Given the description of an element on the screen output the (x, y) to click on. 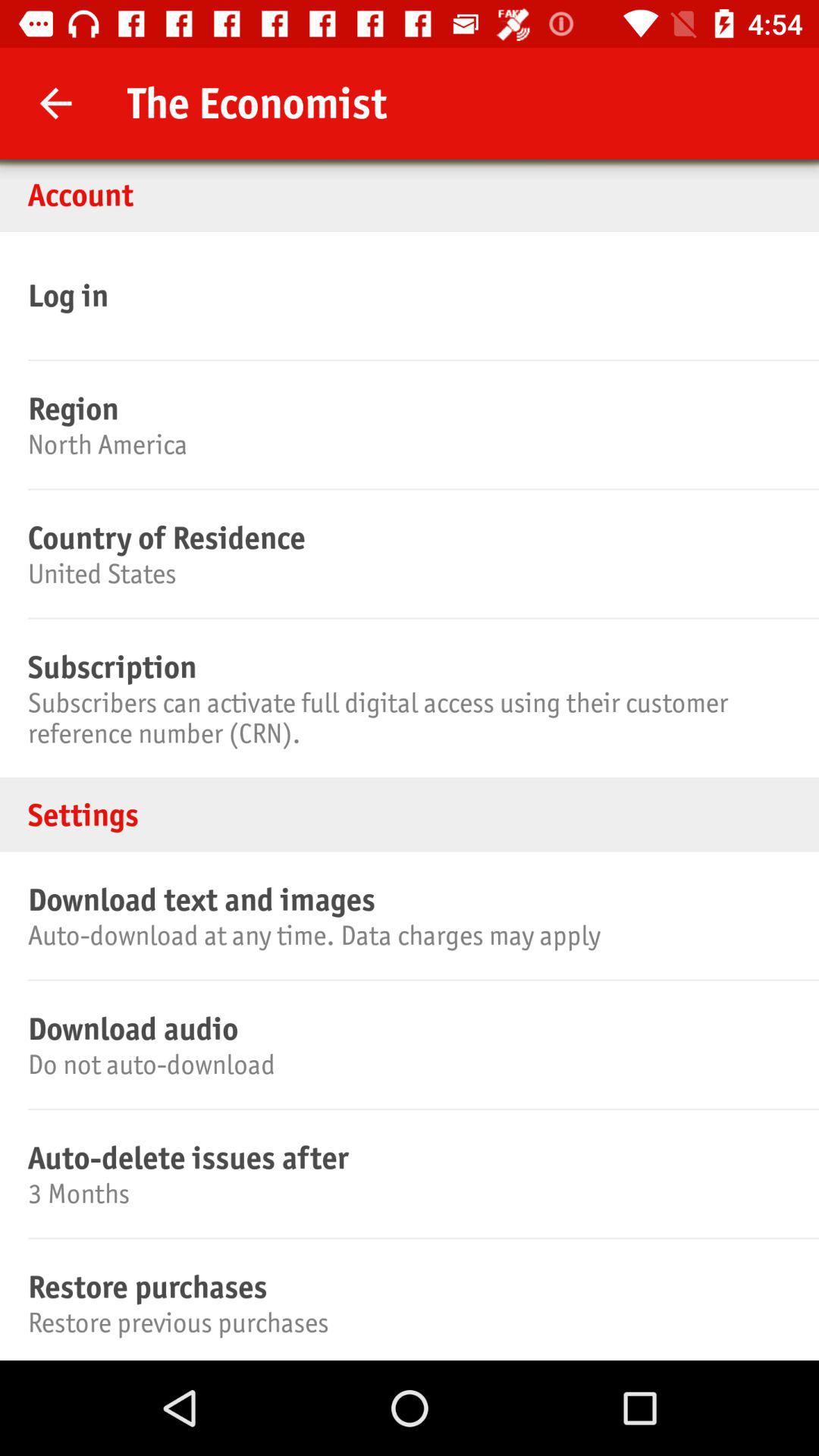
flip until subscription (407, 666)
